Given the description of an element on the screen output the (x, y) to click on. 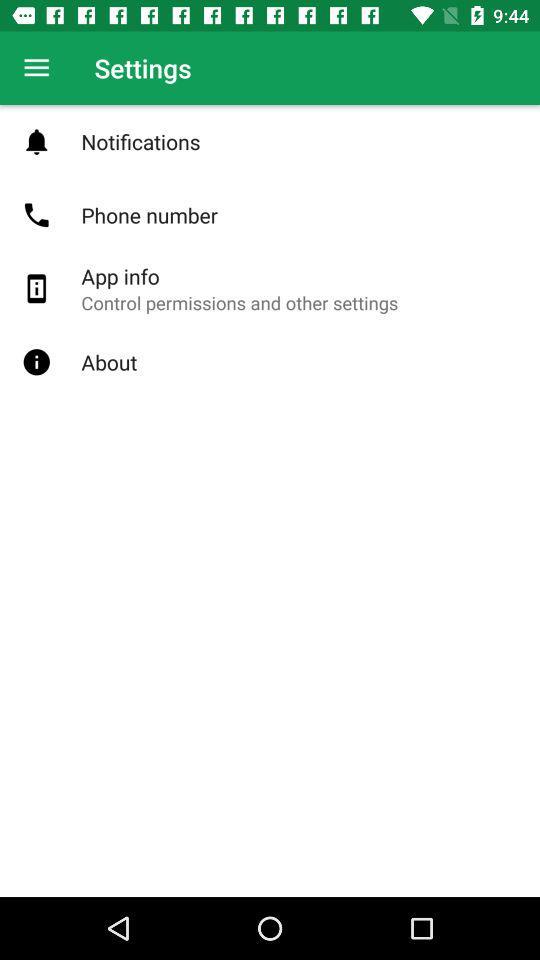
turn on app next to the settings icon (36, 68)
